Given the description of an element on the screen output the (x, y) to click on. 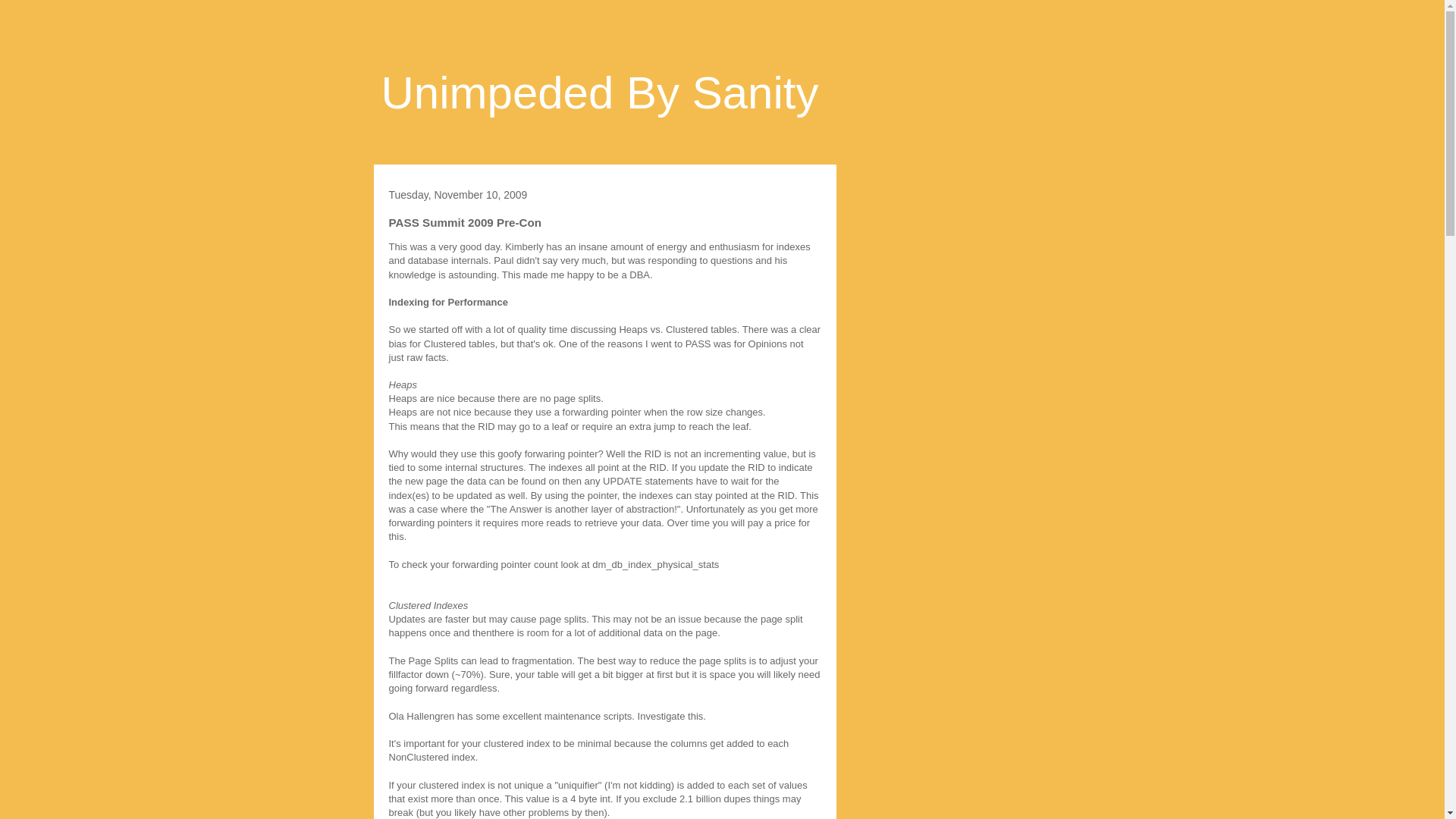
Unimpeded By Sanity (599, 92)
